Given the description of an element on the screen output the (x, y) to click on. 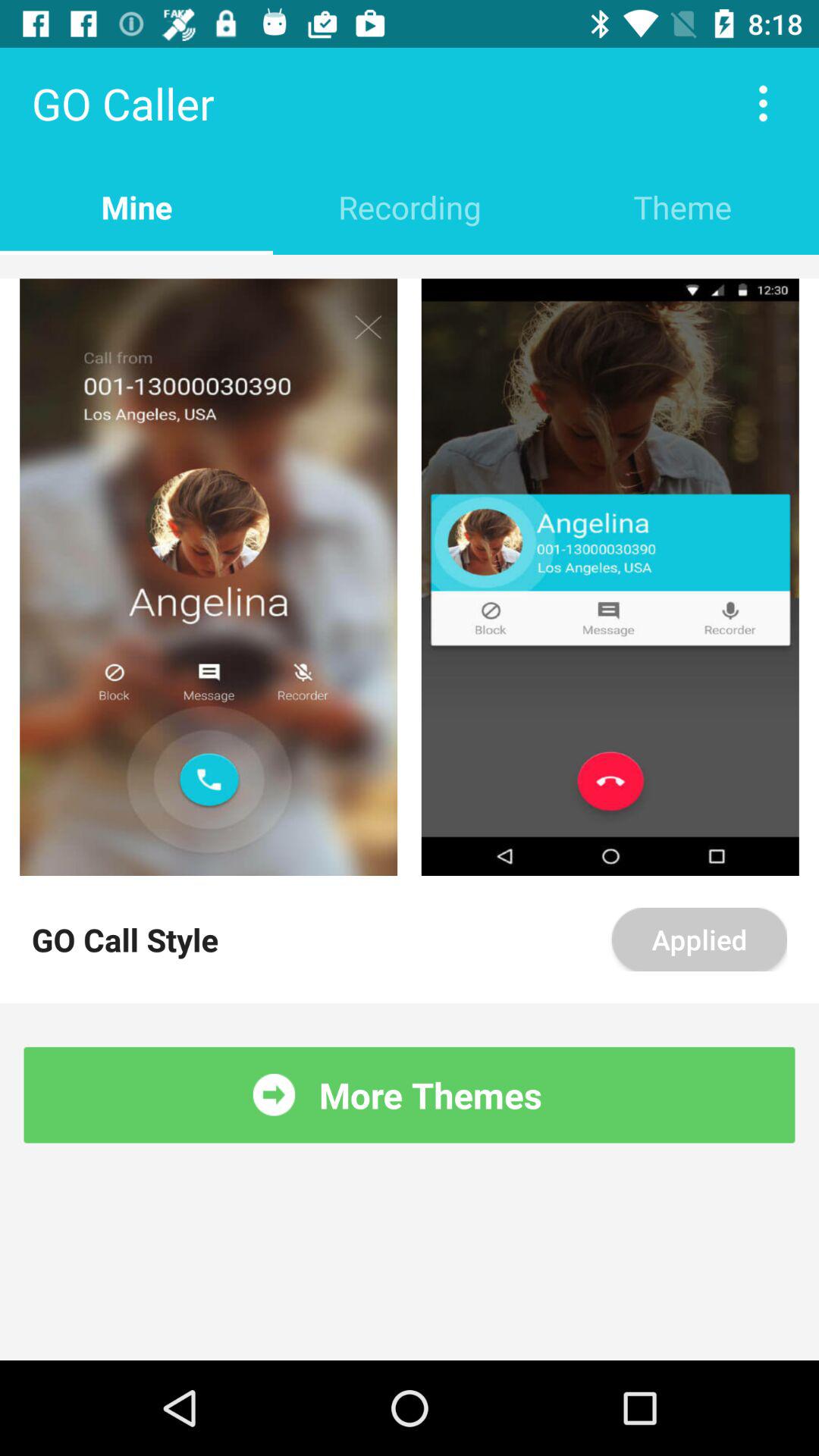
open the item next to mine (409, 206)
